Given the description of an element on the screen output the (x, y) to click on. 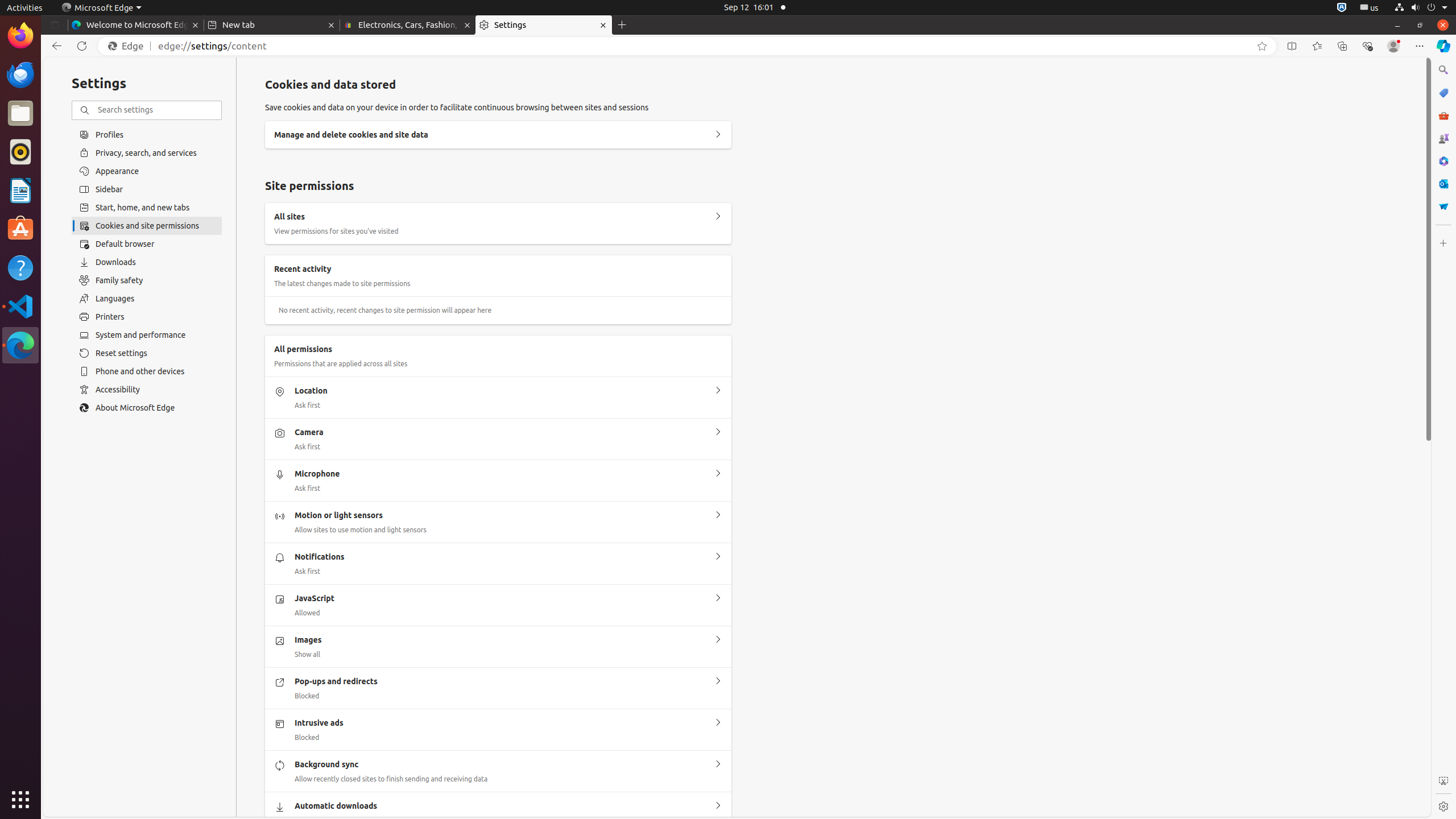
Add this page to favorites (Ctrl+D) Element type: push-button (1261, 46)
Tools Element type: push-button (1443, 115)
Background sync Element type: push-button (717, 764)
Microsoft 365 Element type: push-button (1443, 160)
Languages Element type: tree-item (146, 298)
